Given the description of an element on the screen output the (x, y) to click on. 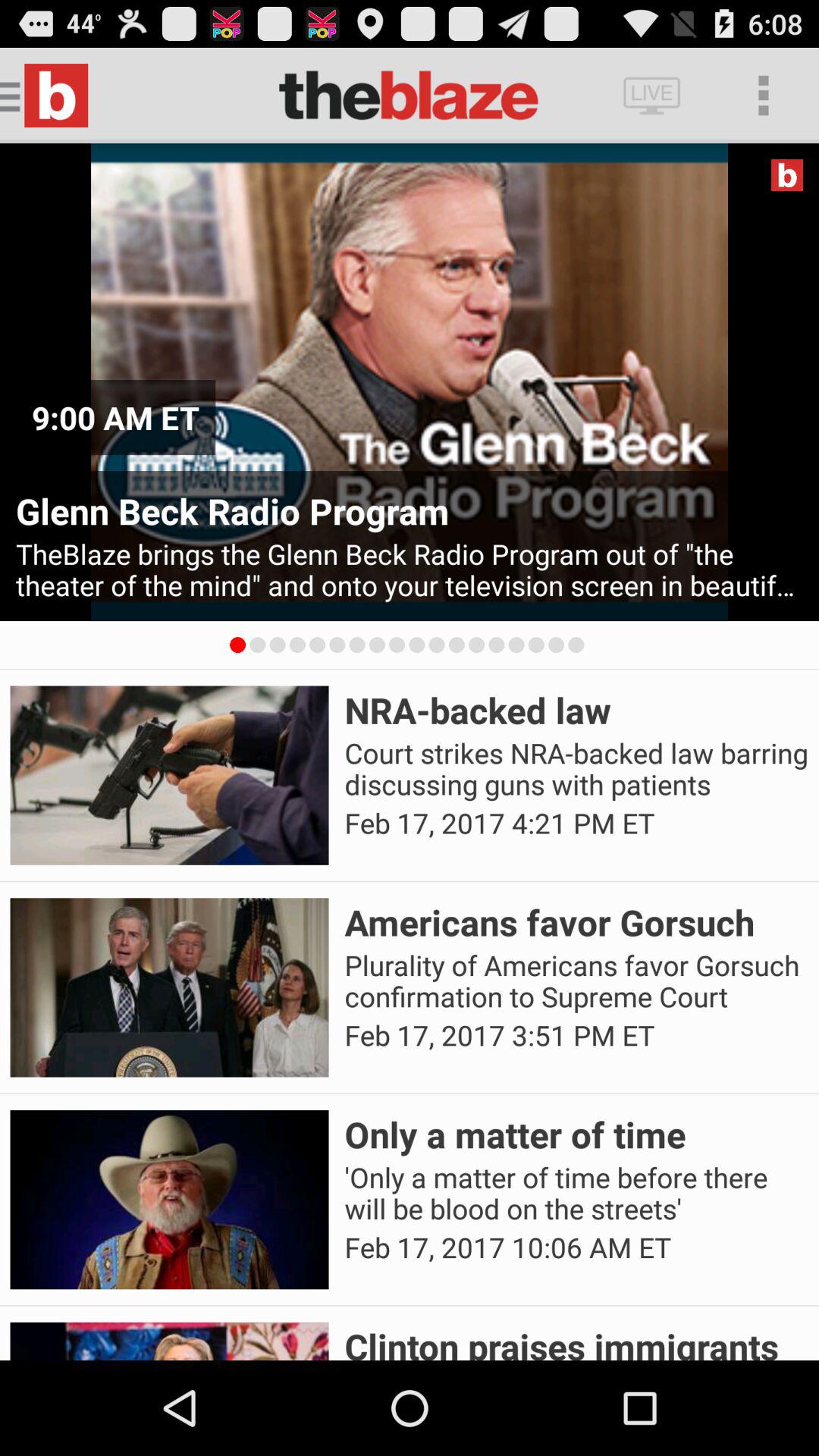
turn on the theblaze brings the (409, 570)
